Given the description of an element on the screen output the (x, y) to click on. 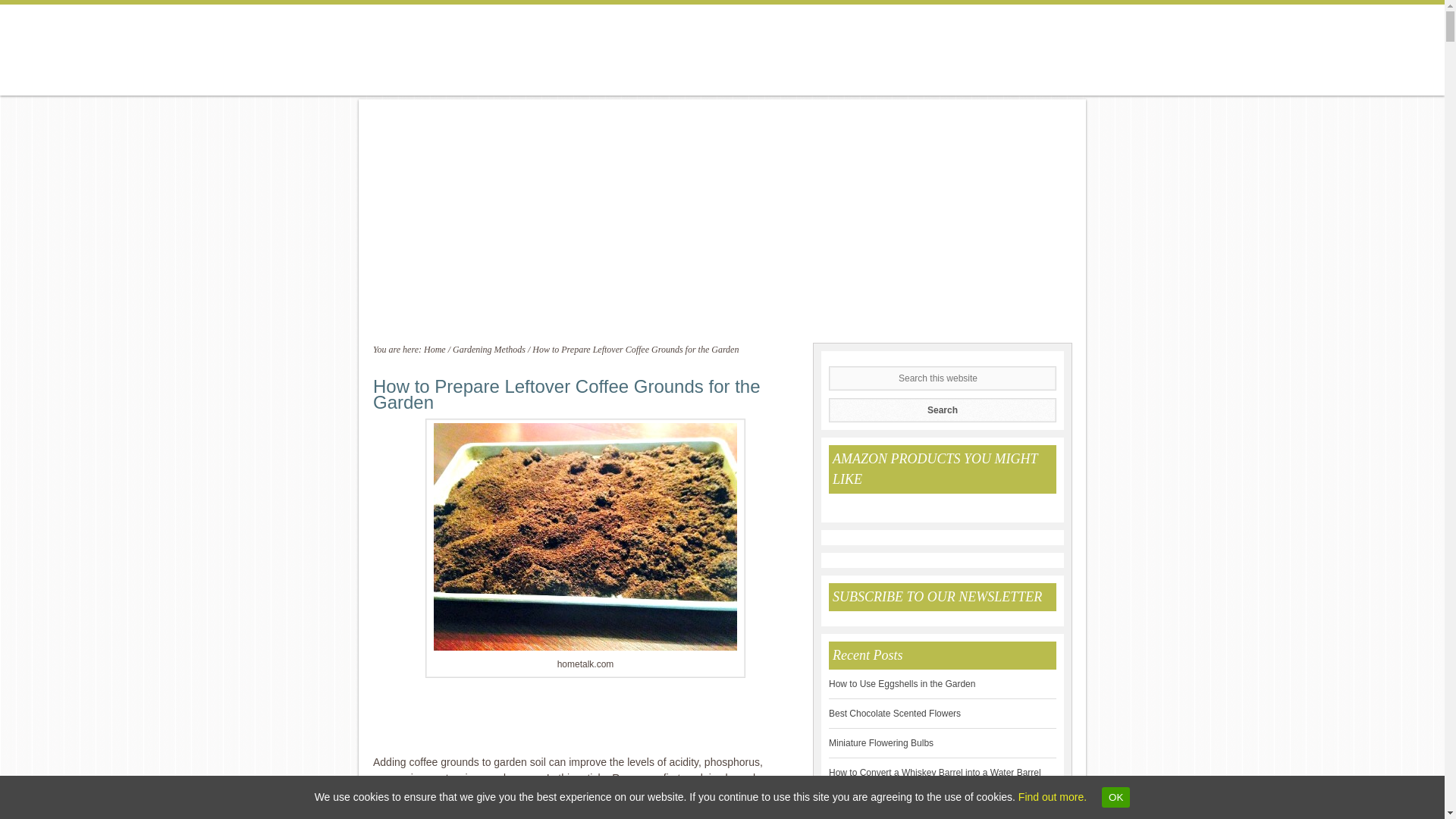
How to Convert a Whiskey Barrel into a Water Barrel (934, 772)
Miniature Flowering Bulbs (880, 742)
Best Chocolate Scented Flowers (894, 713)
Advertisement (584, 723)
Search (942, 410)
18 DIY Stacked Pot Ideas (880, 801)
Search (942, 410)
Gardening Methods (488, 348)
How to Prepare Leftover Coffee Grounds for the Garden (584, 536)
How to Use Eggshells in the Garden (901, 683)
Home (434, 348)
Search (942, 410)
